Given the description of an element on the screen output the (x, y) to click on. 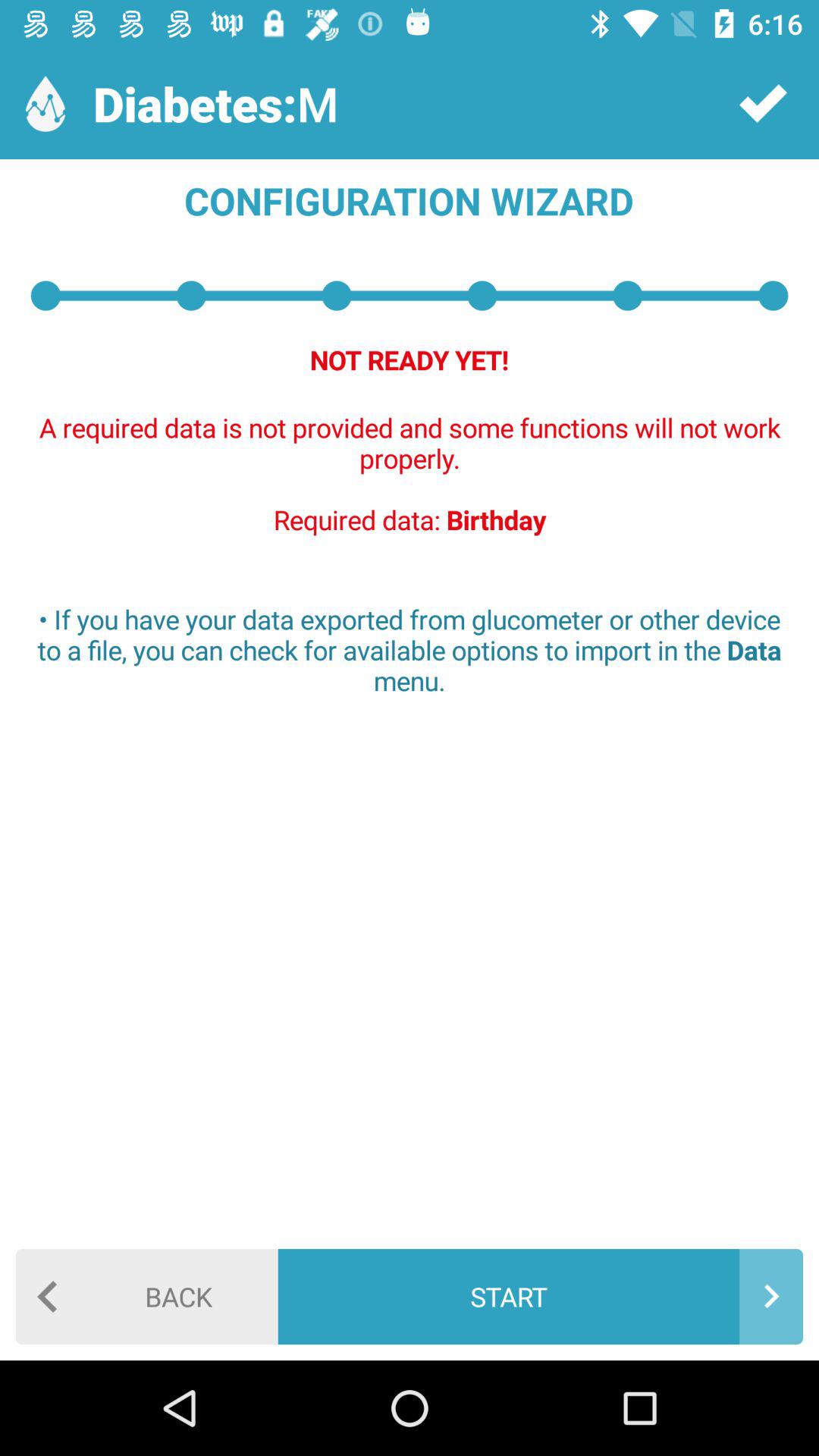
turn on icon below if you have item (146, 1296)
